Given the description of an element on the screen output the (x, y) to click on. 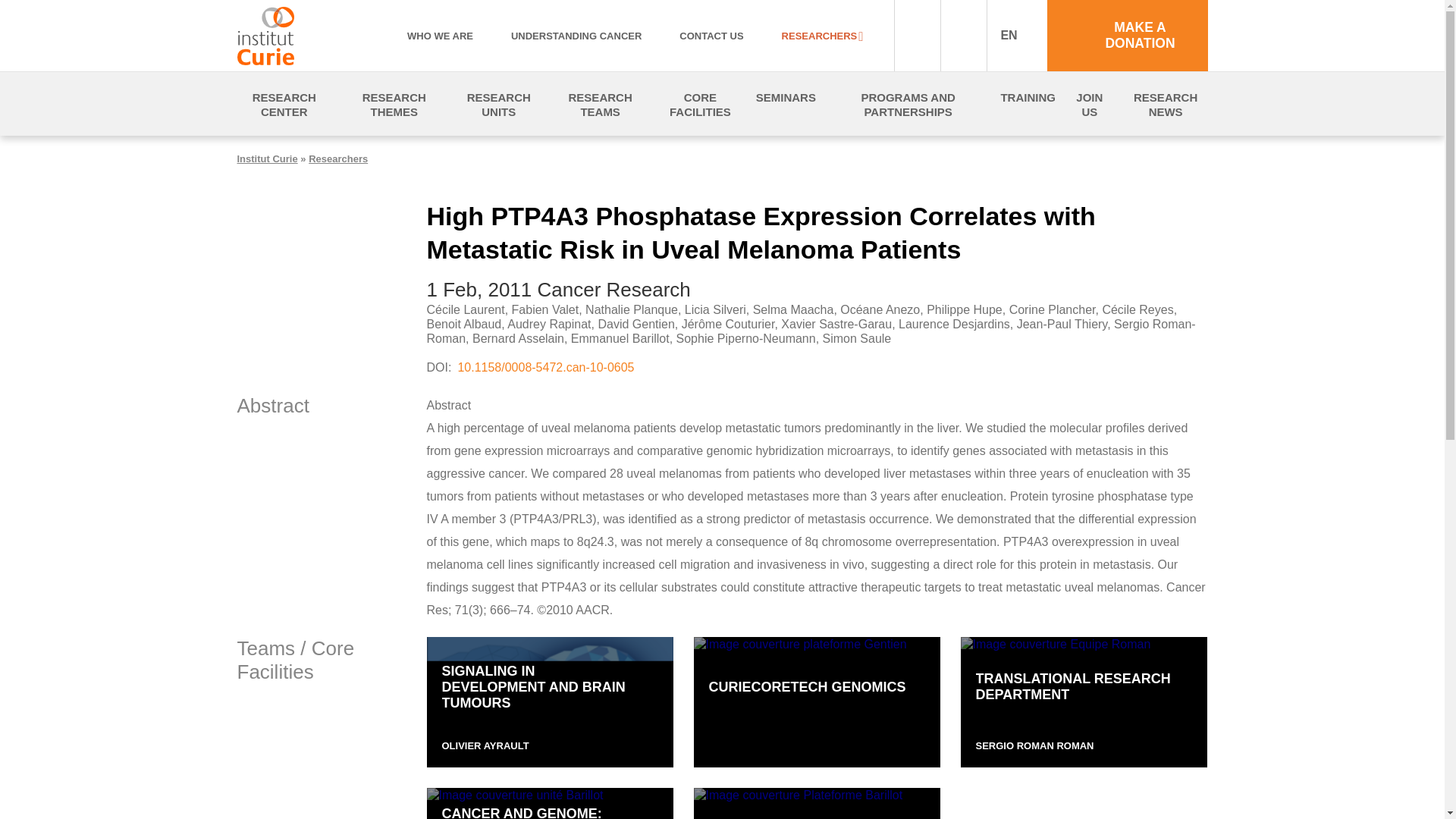
RESEARCH TEAMS (600, 103)
JOIN US (1088, 103)
EN (1016, 35)
Home (291, 34)
UNDERSTANDING CANCER (576, 35)
RESEARCH NEWS (1165, 103)
RESEARCHERS (822, 35)
CONTACT US (710, 35)
MAKE A DONATION (1126, 35)
CurieCoreTech Genomics (816, 702)
Researchers (338, 158)
Institut Curie (266, 158)
RESEARCH CENTER (283, 103)
TRAINING (1027, 97)
WHO WE ARE (440, 35)
